Given the description of an element on the screen output the (x, y) to click on. 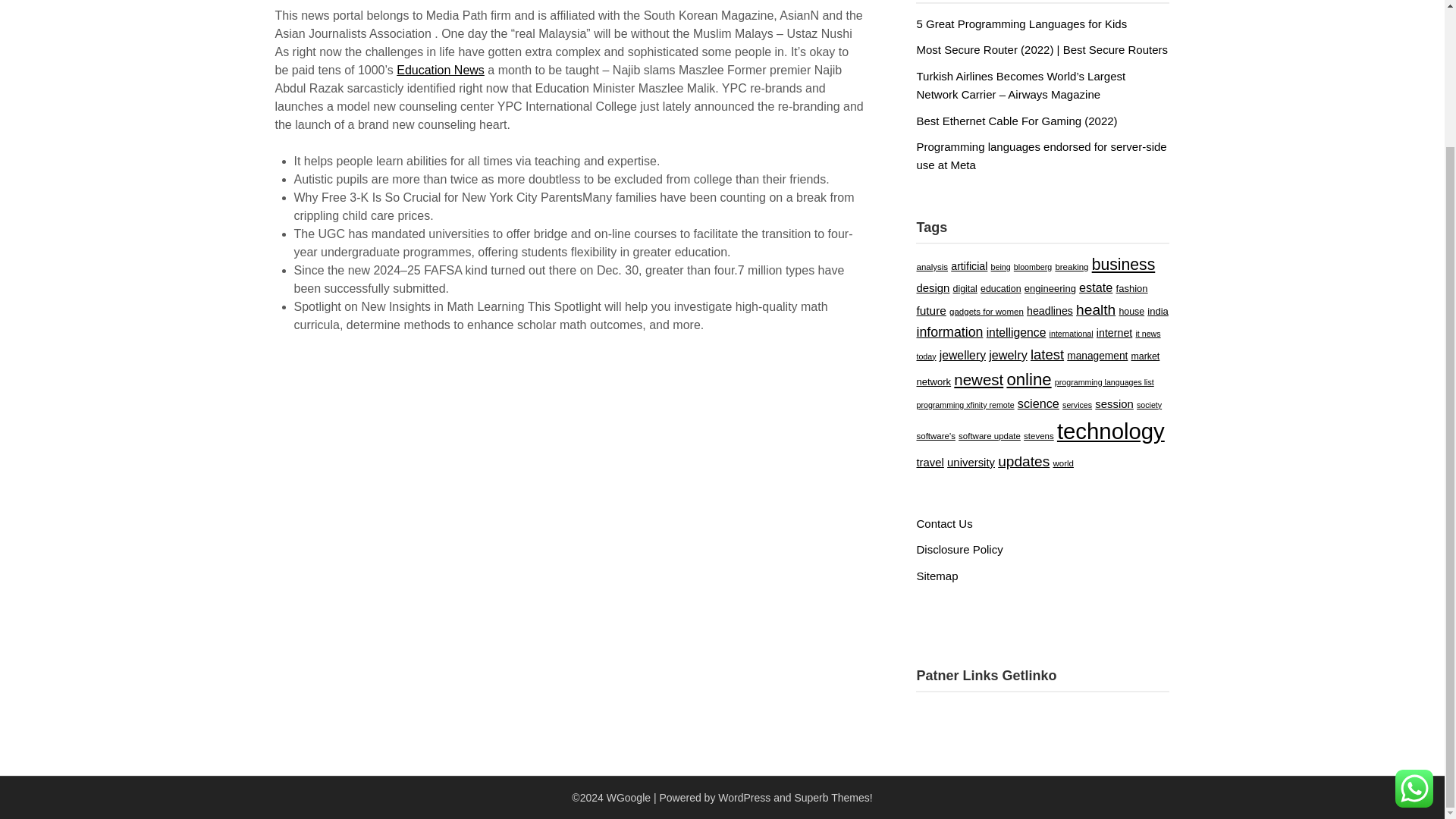
india (1158, 310)
education (1000, 288)
internet (1114, 332)
5 Great Programming Languages for Kids (1020, 23)
information (948, 331)
design (932, 287)
gadgets for women (986, 311)
house (1131, 311)
business (1124, 263)
headlines (1049, 310)
